Given the description of an element on the screen output the (x, y) to click on. 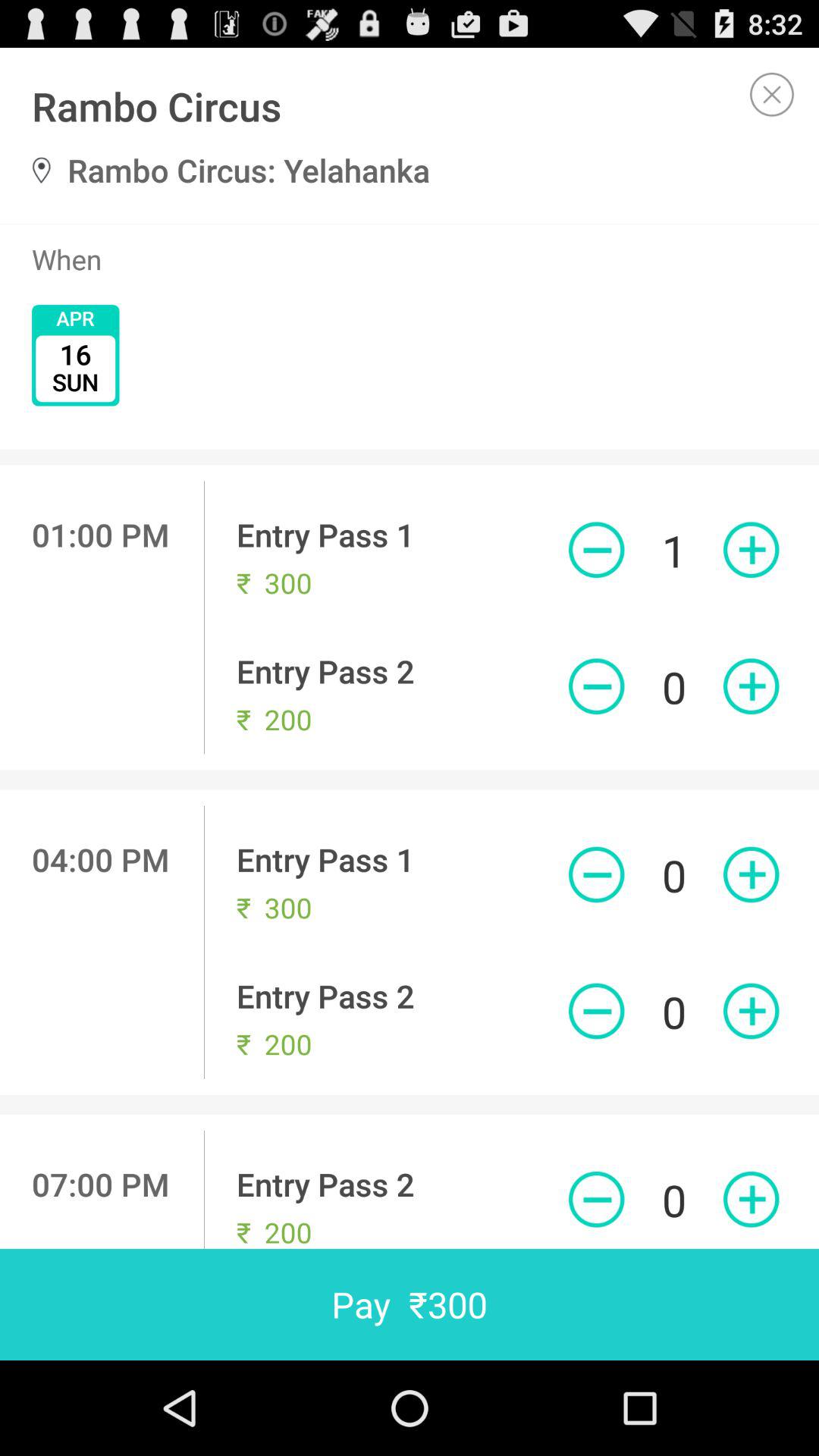
add quantity (751, 1199)
